Given the description of an element on the screen output the (x, y) to click on. 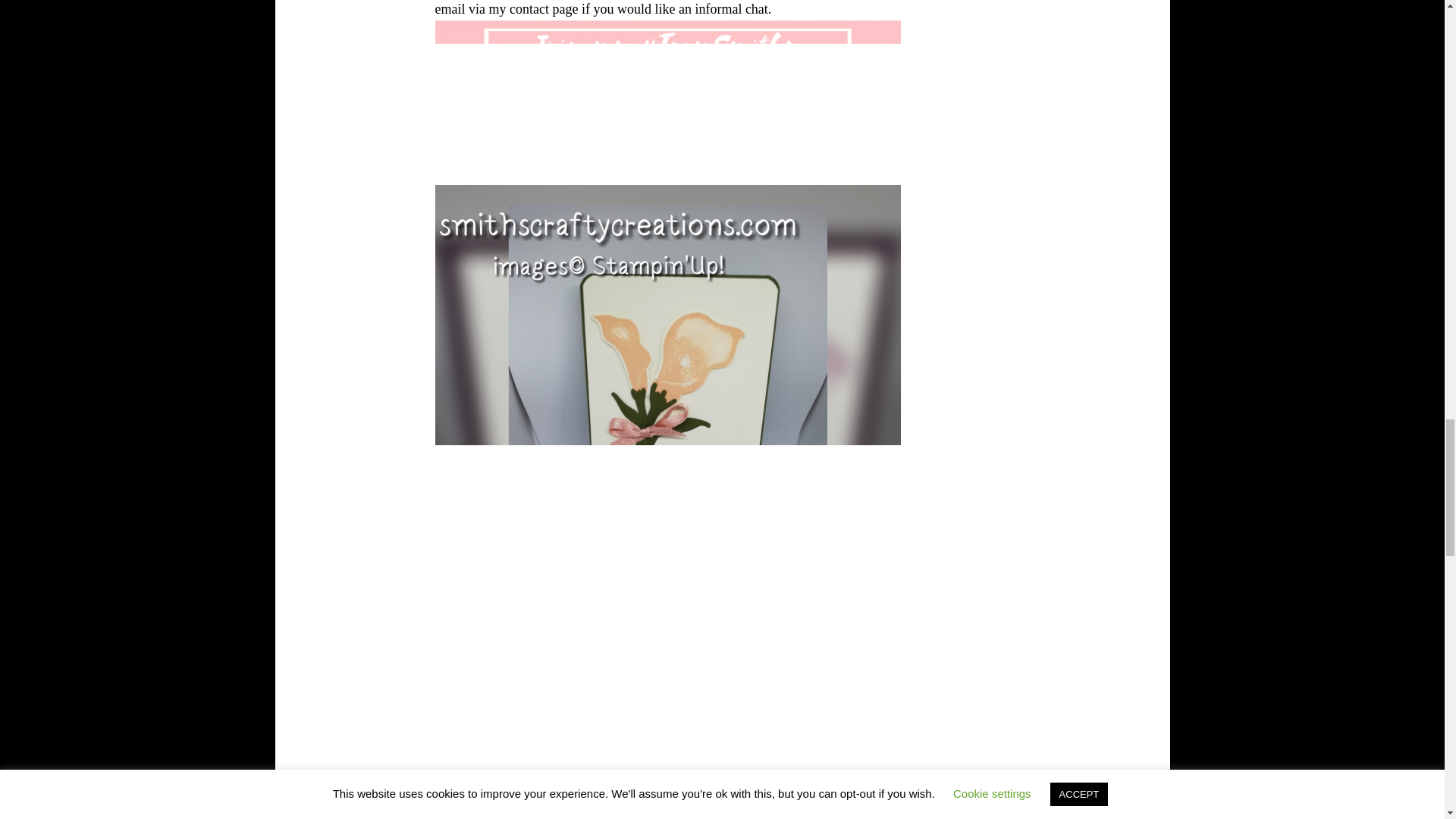
Facebook Share (521, 793)
Tweet (573, 795)
Pin Share (624, 793)
